Given the description of an element on the screen output the (x, y) to click on. 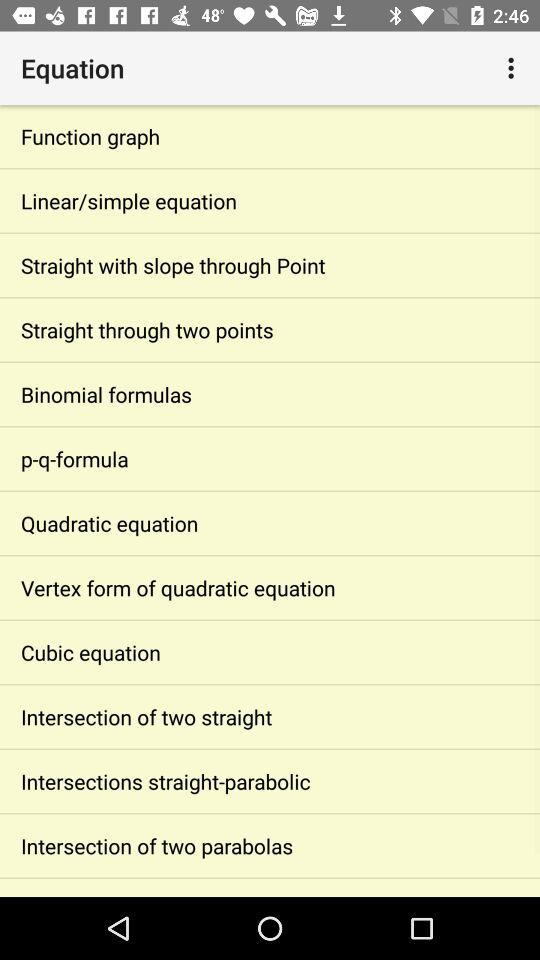
choose the vertex form of item (270, 587)
